Given the description of an element on the screen output the (x, y) to click on. 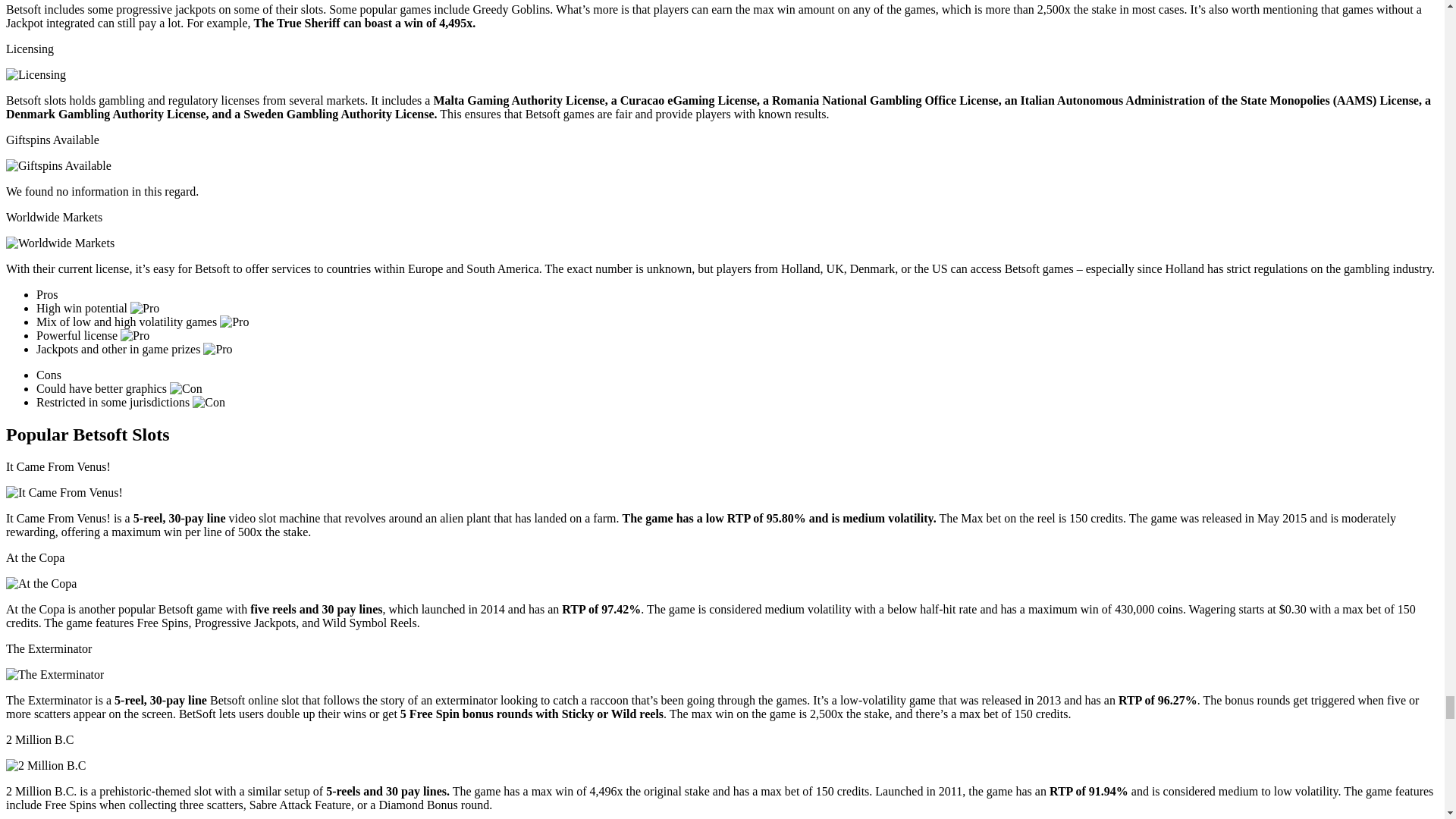
Pro (134, 336)
Con (186, 388)
Pro (217, 349)
Pro (144, 308)
Con (208, 402)
Pro (233, 322)
